Given the description of an element on the screen output the (x, y) to click on. 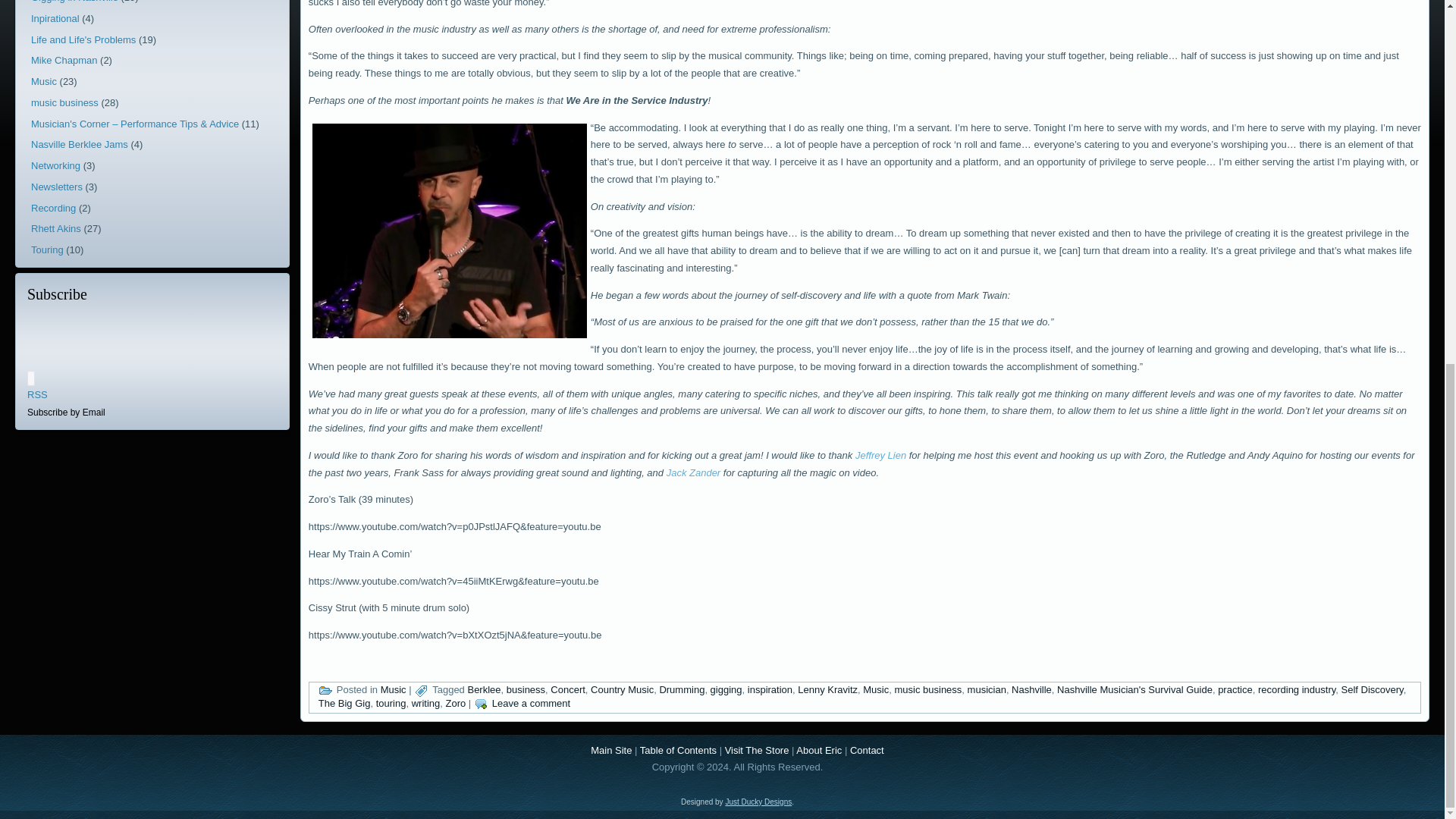
Jack Zander (693, 472)
RSS (37, 394)
Newsletters (56, 186)
Gigging in Nashville (73, 1)
Life and Life's Problems (82, 39)
Rhett Akins (55, 228)
Touring (47, 249)
Berklee (483, 689)
Drumming (681, 689)
Jeffrey Lien (880, 455)
Subscribe to my feed (37, 394)
Networking (55, 165)
Country Music (622, 689)
music business (64, 102)
Mike Chapman (63, 60)
